Given the description of an element on the screen output the (x, y) to click on. 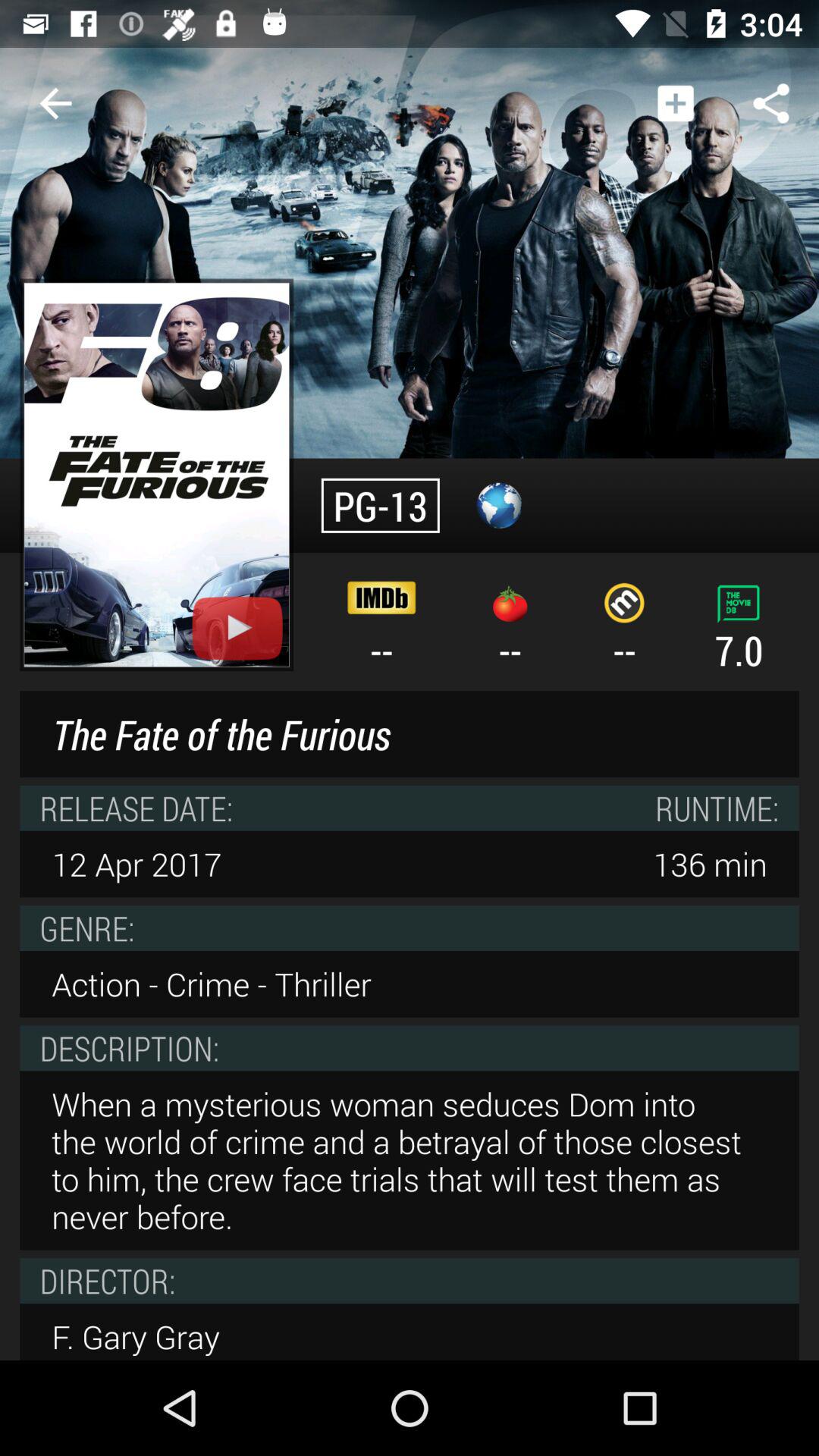
you tube (236, 628)
